Given the description of an element on the screen output the (x, y) to click on. 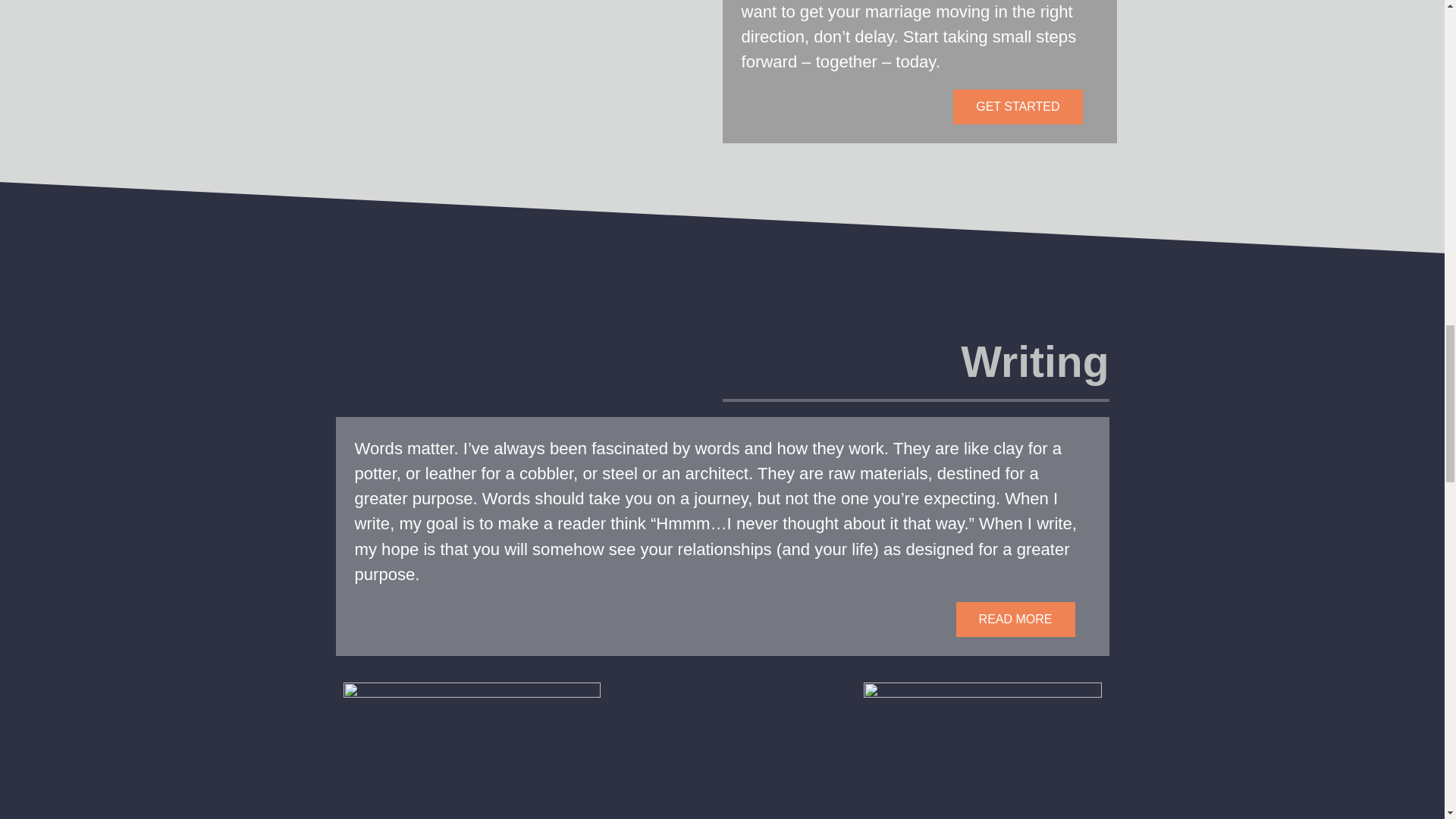
READ MORE (1015, 619)
GET STARTED (1017, 106)
